Given the description of an element on the screen output the (x, y) to click on. 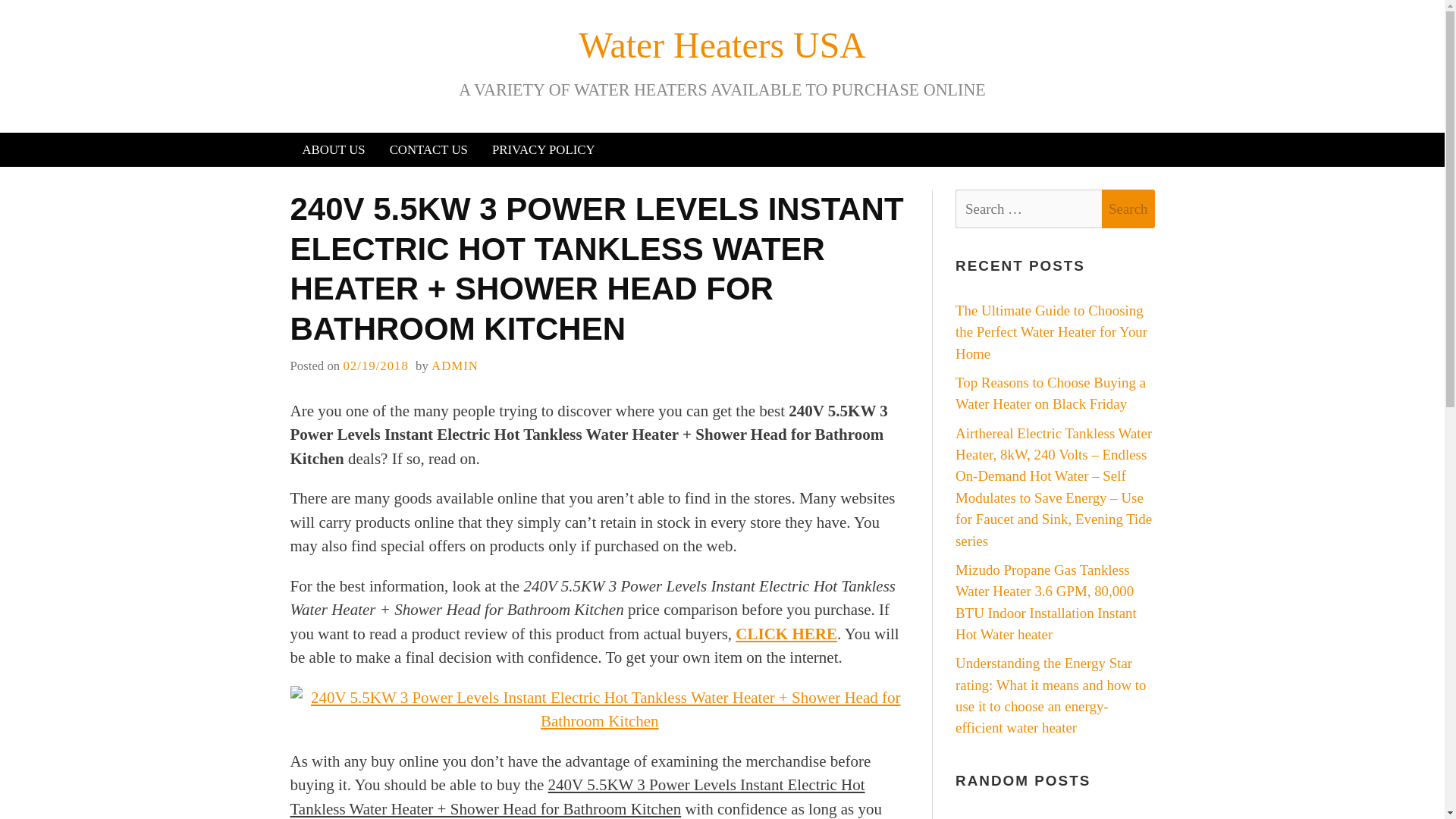
ABOUT US (333, 149)
ADMIN (454, 365)
Water Heaters USA (722, 45)
CLICK HERE (786, 633)
CONTACT US (428, 149)
PRIVACY POLICY (543, 149)
Search (1128, 208)
Search (1128, 208)
